Given the description of an element on the screen output the (x, y) to click on. 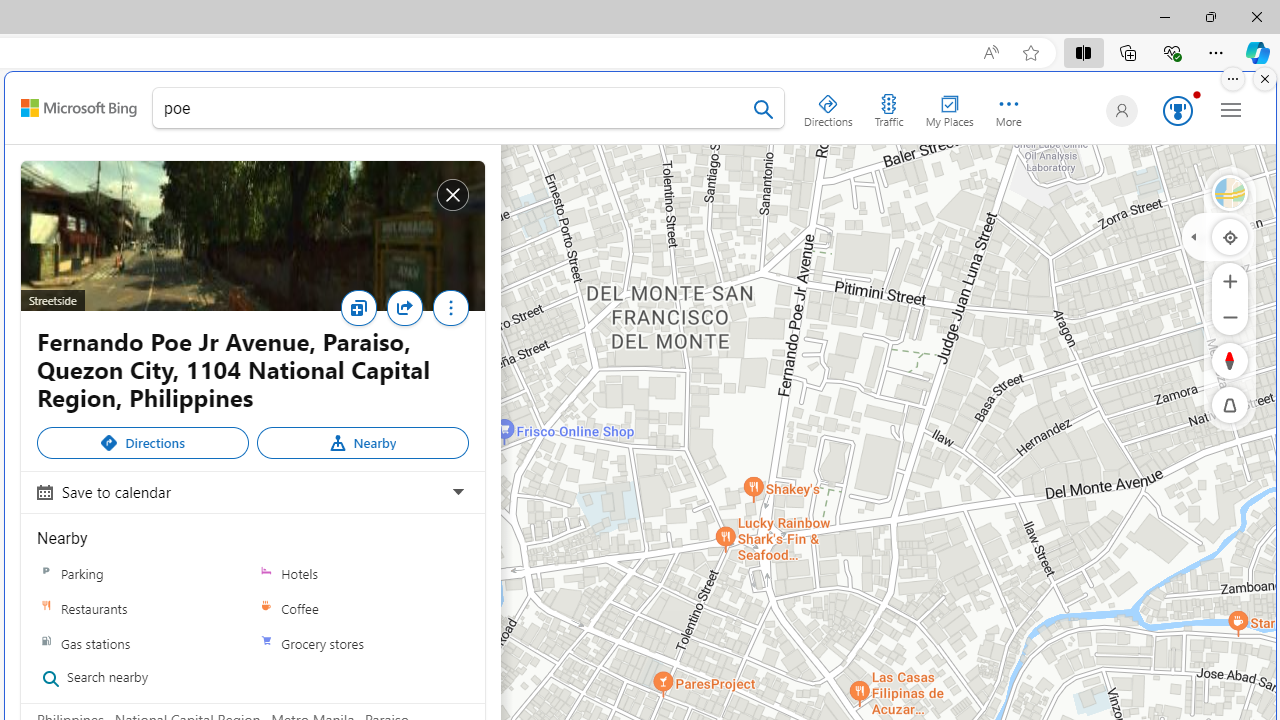
Satellite (1230, 192)
Nearby (362, 442)
Gas stations (46, 643)
Zoom Out (1230, 316)
Directions (828, 106)
Directions (143, 442)
poe (468, 111)
AutomationID: rh_meter (1178, 110)
Restaurants (143, 608)
My Places (949, 106)
Road (1230, 192)
Hotels (362, 573)
Settings and quick links (1231, 109)
Expand/Collapse Geochain (1193, 236)
